Given the description of an element on the screen output the (x, y) to click on. 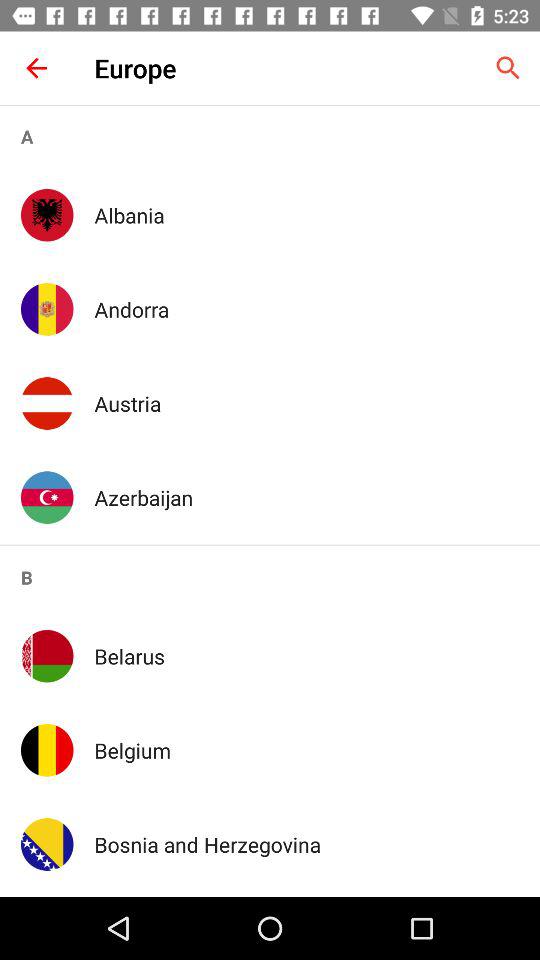
flip until the austria app (306, 403)
